Given the description of an element on the screen output the (x, y) to click on. 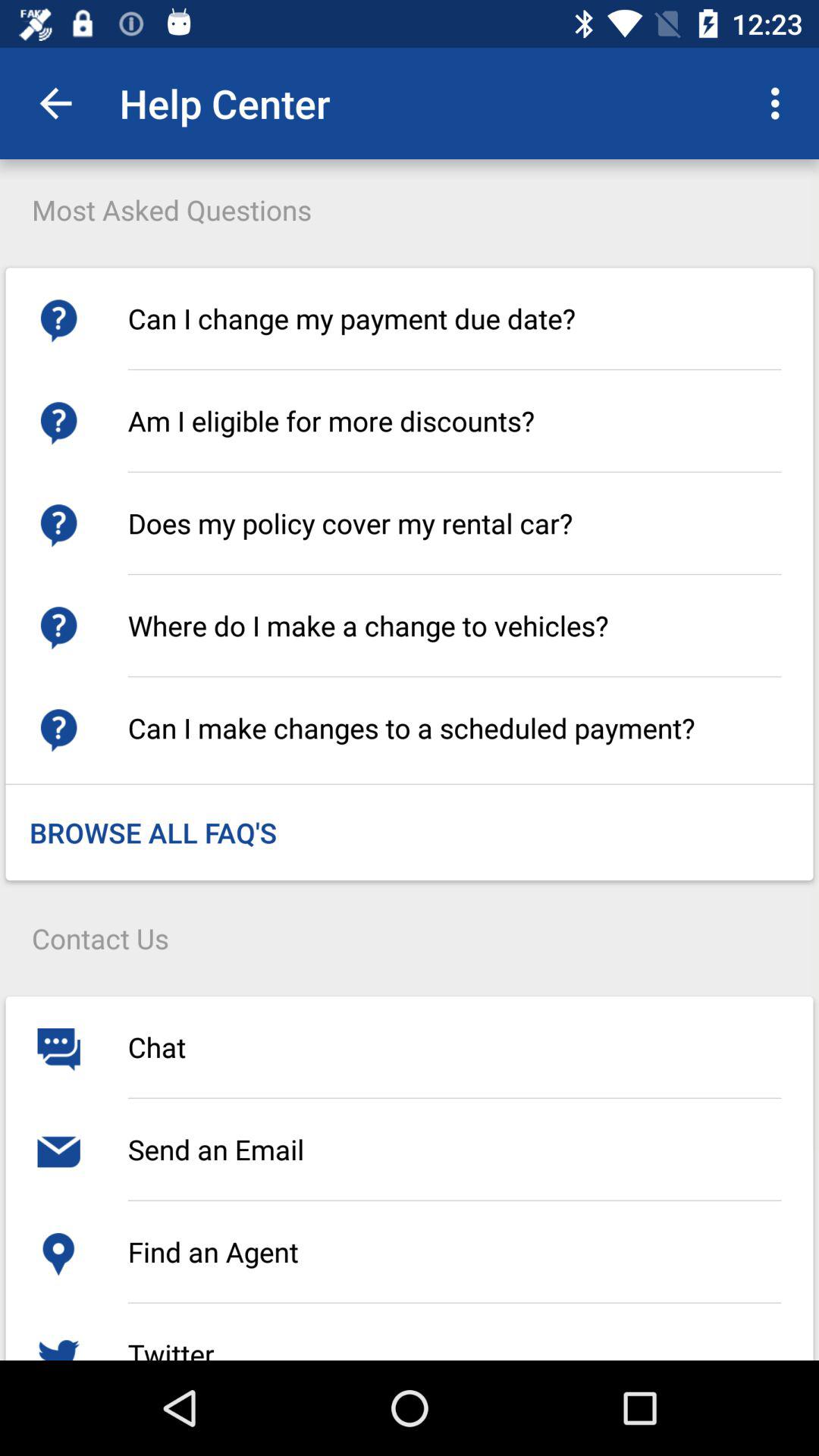
launch app next to the help center app (55, 103)
